Given the description of an element on the screen output the (x, y) to click on. 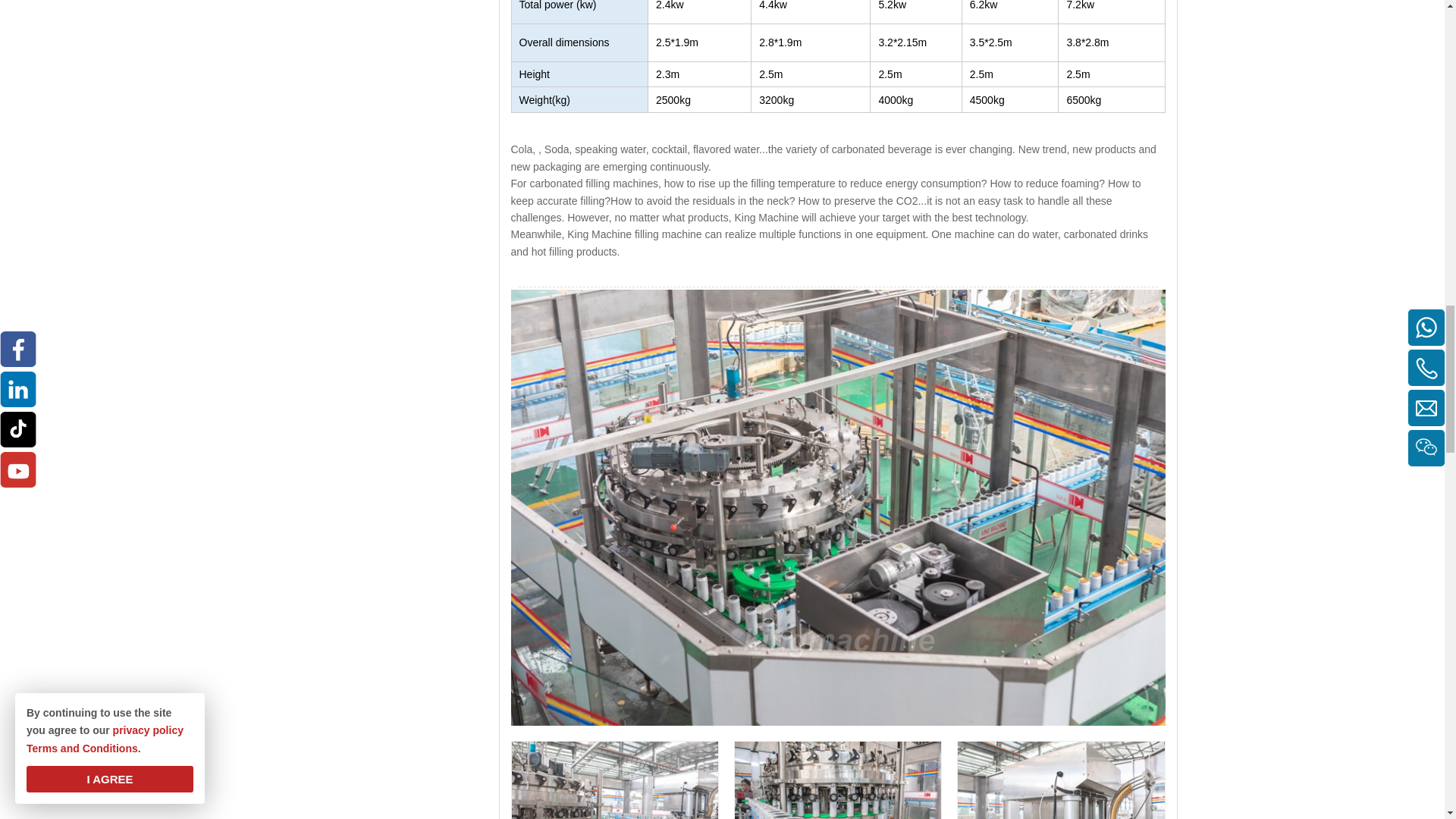
can sealing machine (1060, 780)
Canning Line (837, 780)
counter pressure canning line (614, 780)
